Given the description of an element on the screen output the (x, y) to click on. 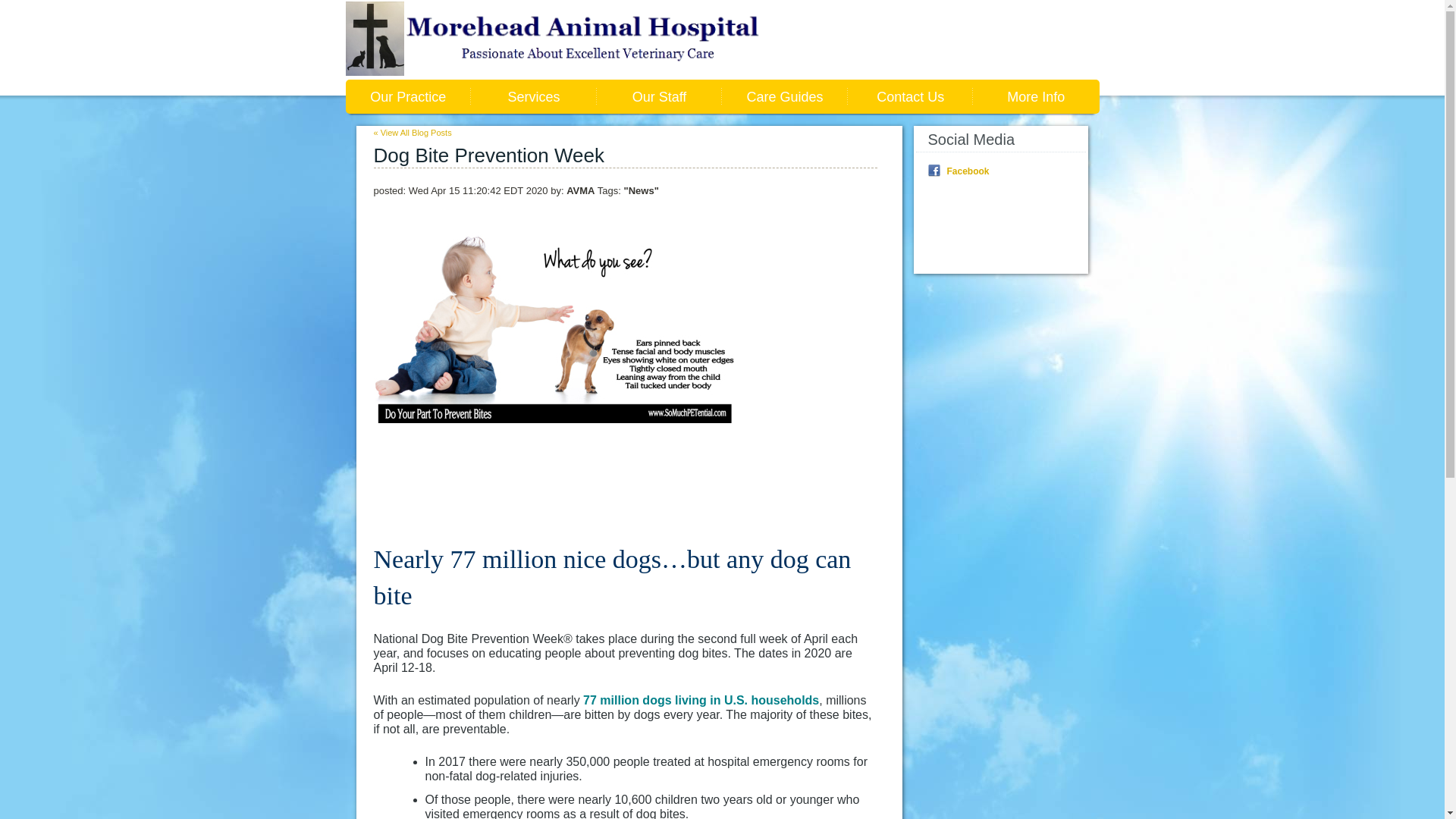
Our Practice (408, 96)
Facebook (967, 171)
Services (533, 96)
Morehead Animal Hospital (573, 38)
77 million dogs living in U.S. households (700, 699)
Care Guides (784, 96)
Contact Us (910, 96)
More Info (1035, 96)
Our Staff (659, 96)
